Given the description of an element on the screen output the (x, y) to click on. 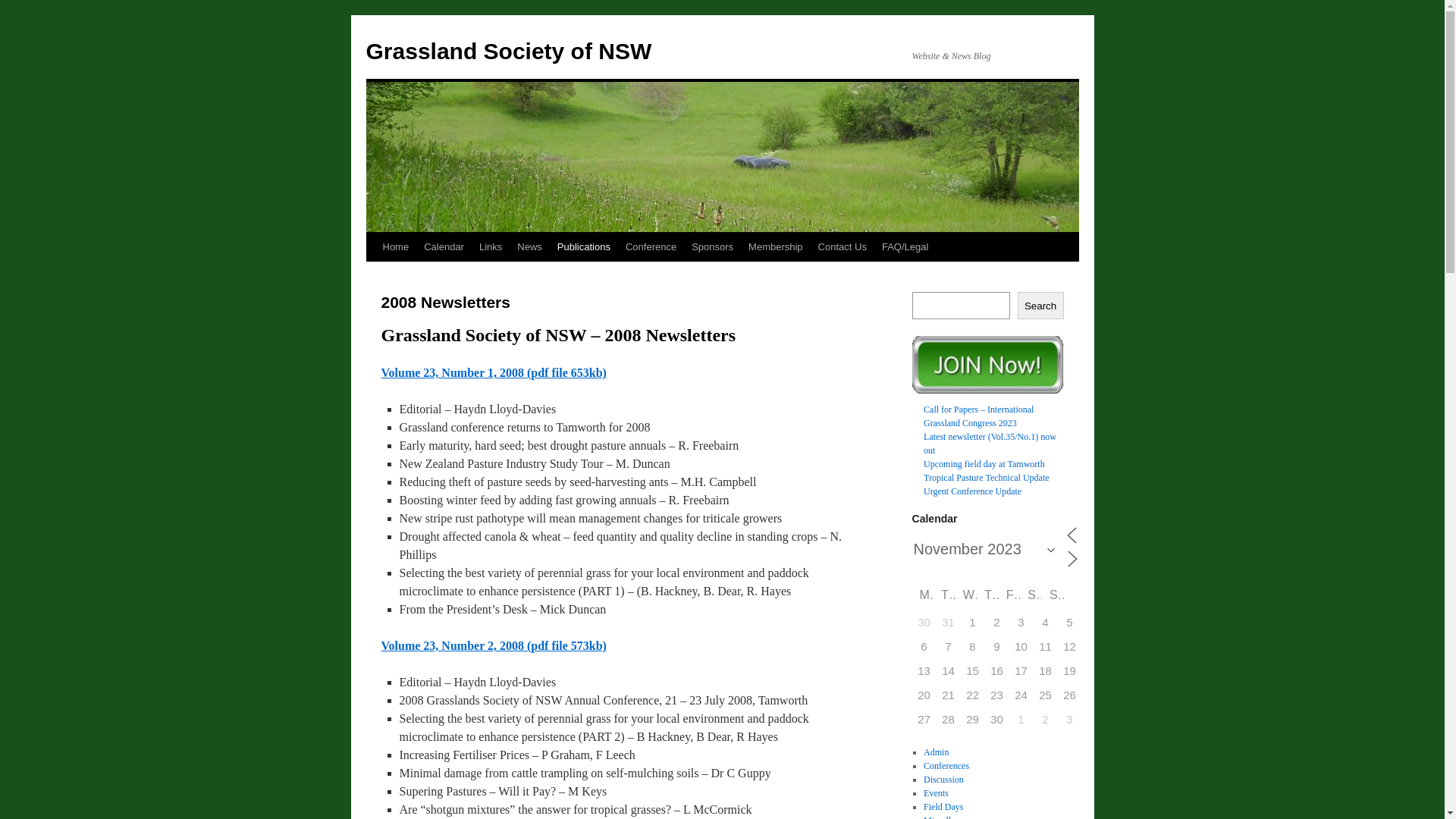
Links Element type: text (490, 246)
Sponsors Element type: text (712, 246)
Grassland Society of NSW Element type: text (508, 50)
Home Element type: text (395, 246)
Search Element type: text (1040, 305)
Tropical Pasture Technical Update Element type: text (985, 477)
Volume 23, Number 2, 2008 (pdf file 573kb) Element type: text (492, 645)
Latest newsletter (Vol.35/No.1) now out Element type: text (989, 443)
Urgent Conference Update Element type: text (972, 491)
FAQ/Legal Element type: text (904, 246)
Volume 23, Number 1, 2008 (pdf file 653kb) Element type: text (492, 372)
Skip to content Element type: text (372, 275)
Admin Element type: text (935, 751)
Discussion Element type: text (943, 779)
Contact Us Element type: text (842, 246)
Events Element type: text (935, 792)
Field Days Element type: text (943, 806)
Upcoming field day at Tamworth Element type: text (983, 463)
Conference Element type: text (651, 246)
Publications Element type: text (583, 246)
News Element type: text (529, 246)
Conferences Element type: text (946, 765)
Calendar Element type: text (443, 246)
Membership Element type: text (775, 246)
